Given the description of an element on the screen output the (x, y) to click on. 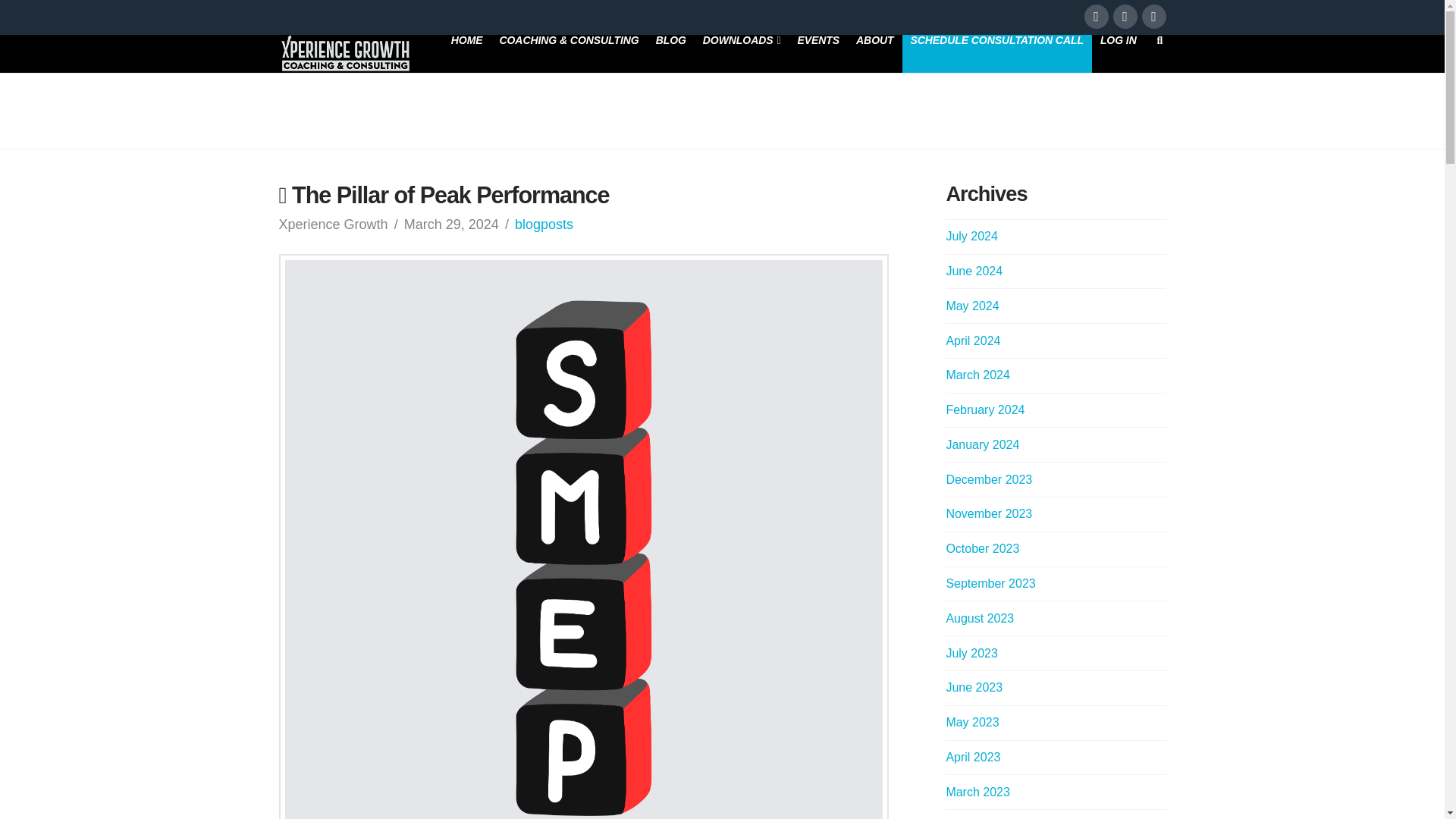
DOWNLOADS (741, 53)
November 2023 (988, 513)
July 2024 (970, 236)
March 2024 (977, 374)
SCHEDULE CONSULTATION CALL (997, 53)
Facebook (1096, 16)
April 2024 (972, 340)
June 2024 (973, 270)
BLOG (670, 53)
HOME (467, 53)
EVENTS (818, 53)
August 2023 (978, 617)
LOG IN (1118, 53)
January 2024 (981, 444)
December 2023 (988, 479)
